Given the description of an element on the screen output the (x, y) to click on. 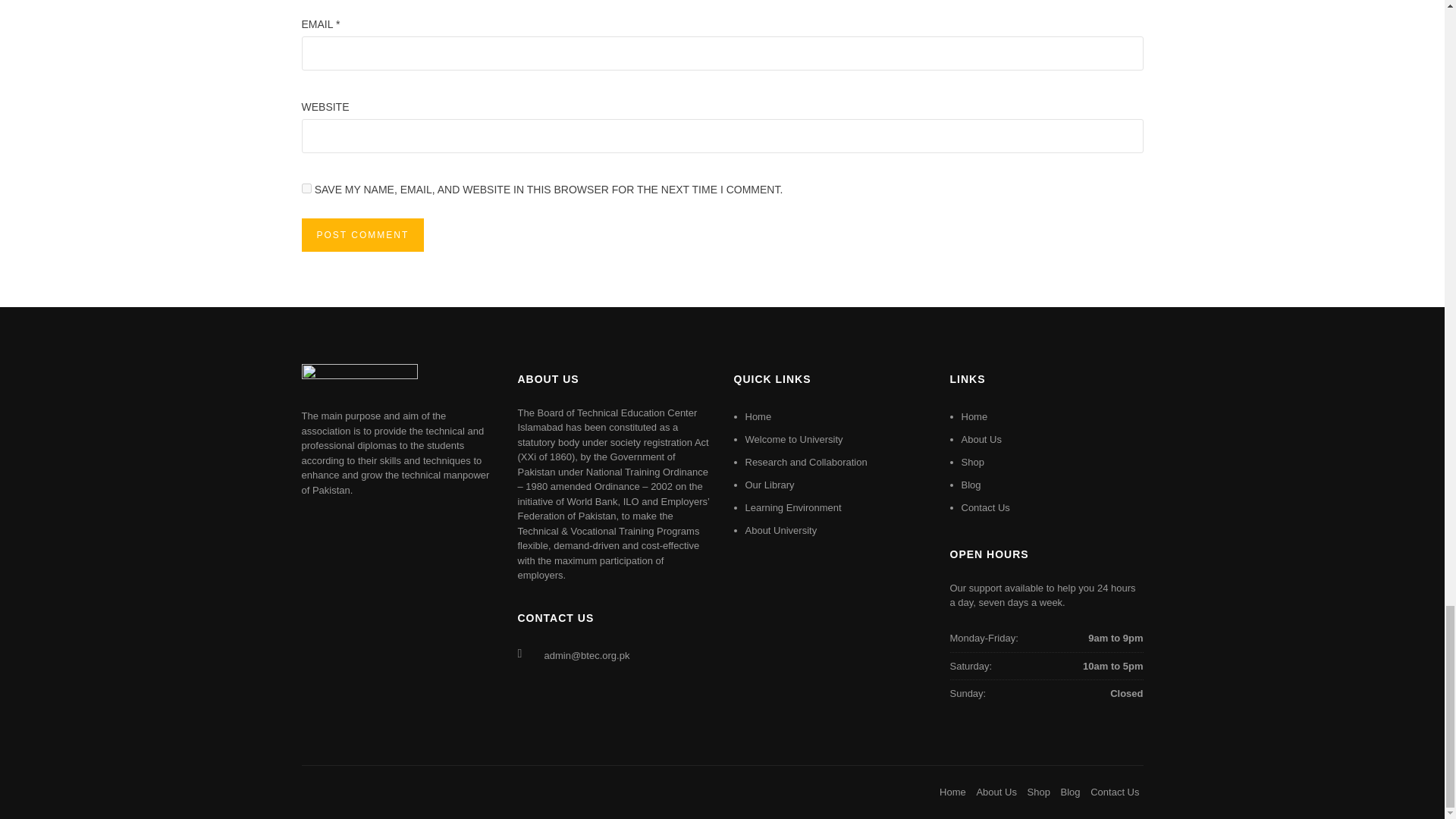
Shop (1038, 791)
Home (757, 416)
Home (952, 791)
Post Comment (363, 234)
Home (974, 416)
Post Comment (363, 234)
Welcome to University (793, 439)
Learning Environment (792, 507)
About University (780, 530)
Contact Us (985, 507)
About Us (980, 439)
Our Library (768, 484)
Research and Collaboration (805, 461)
Shop (972, 461)
yes (306, 188)
